Given the description of an element on the screen output the (x, y) to click on. 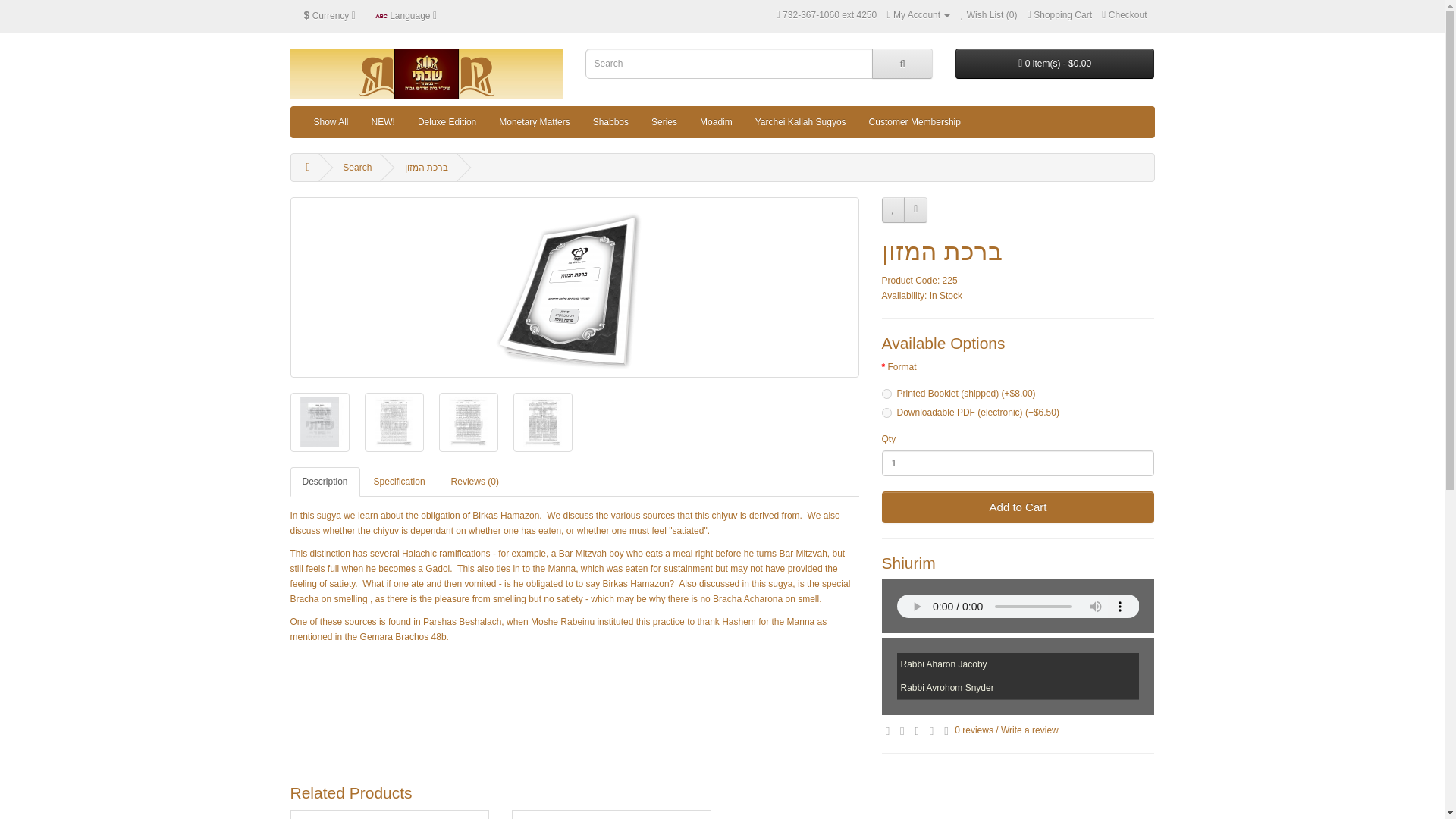
Shivti Seforim Store (425, 73)
My Account (918, 14)
NEW! (382, 122)
My Account (918, 14)
Monetary Matters (533, 122)
Checkout (1124, 14)
Show All (330, 122)
Deluxe Edition (446, 122)
662 (885, 412)
661 (885, 393)
Shopping Cart (1059, 14)
English (381, 16)
Language  (405, 15)
1 (1017, 462)
Checkout (1124, 14)
